Given the description of an element on the screen output the (x, y) to click on. 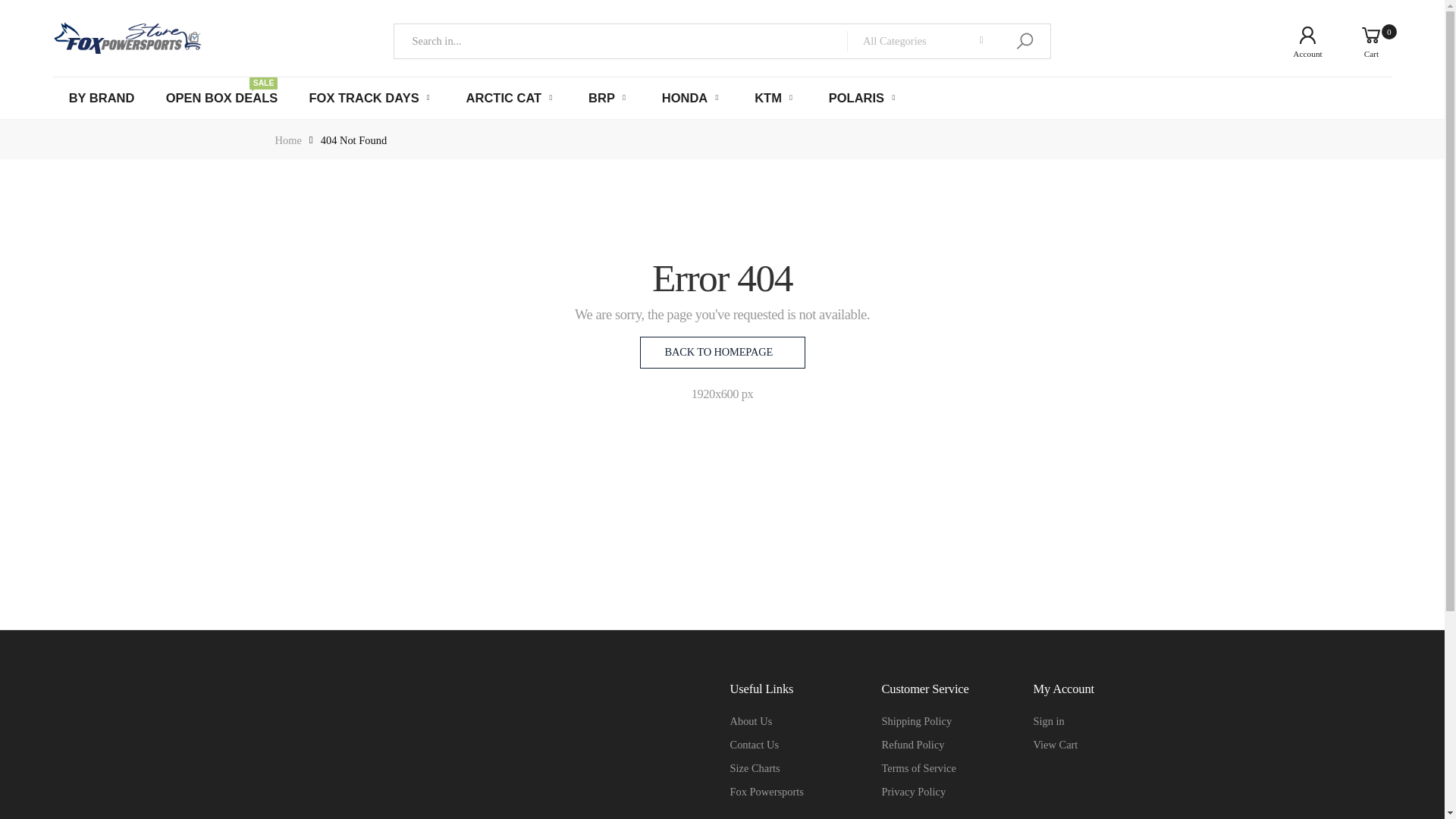
View Cart (1054, 744)
Home (288, 139)
Refund Policy (911, 744)
Size Charts (753, 767)
Shipping Policy (916, 720)
POLARIS (863, 97)
Terms of Service (917, 767)
ARCTIC CAT (511, 97)
BRP (609, 97)
BY BRAND (101, 97)
Contact Us (753, 744)
BACK TO HOMEPAGE (722, 351)
FOX TRACK DAYS (371, 97)
Home (288, 139)
Fox Powersports (766, 791)
